Given the description of an element on the screen output the (x, y) to click on. 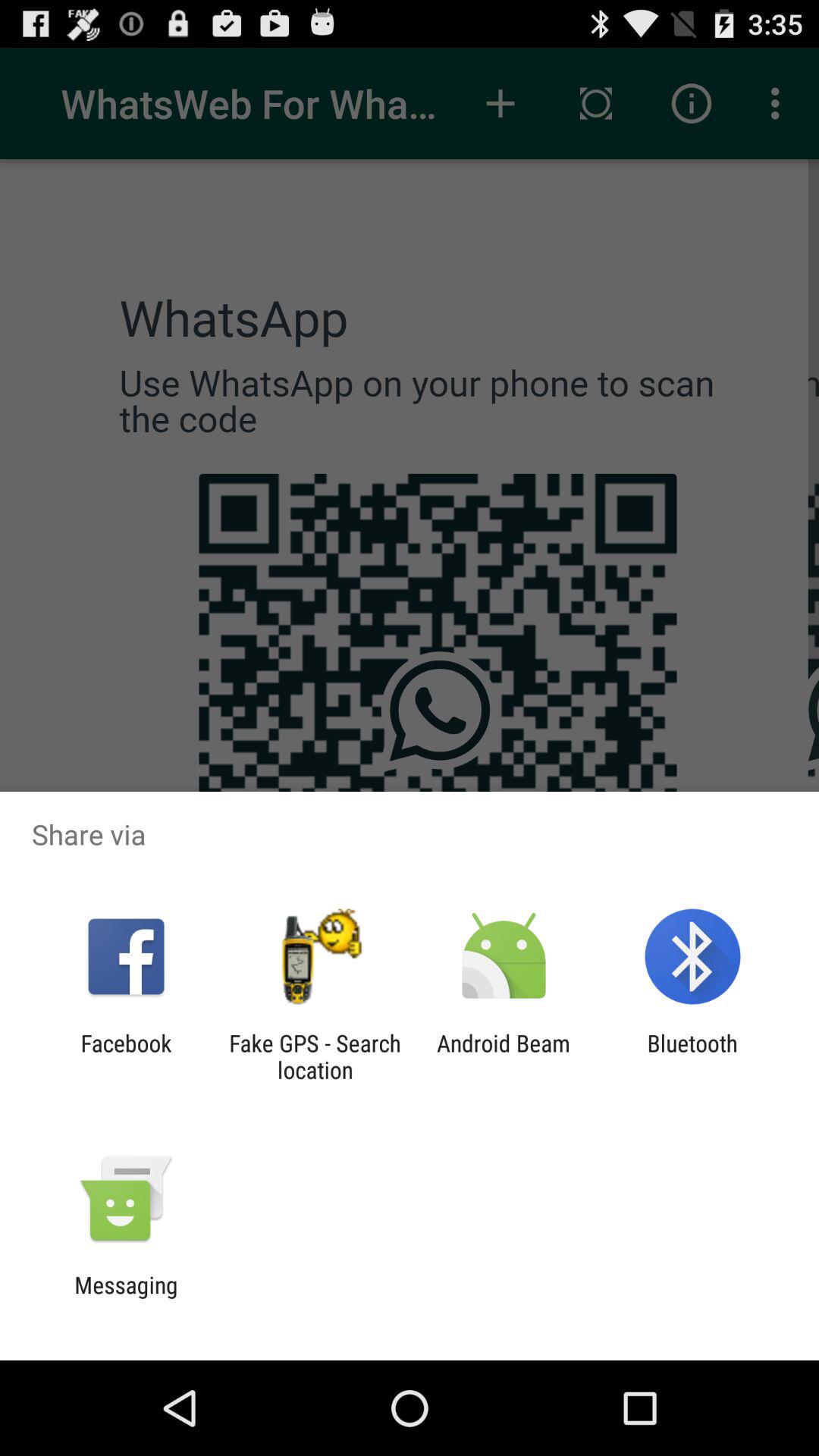
flip until messaging app (126, 1298)
